Given the description of an element on the screen output the (x, y) to click on. 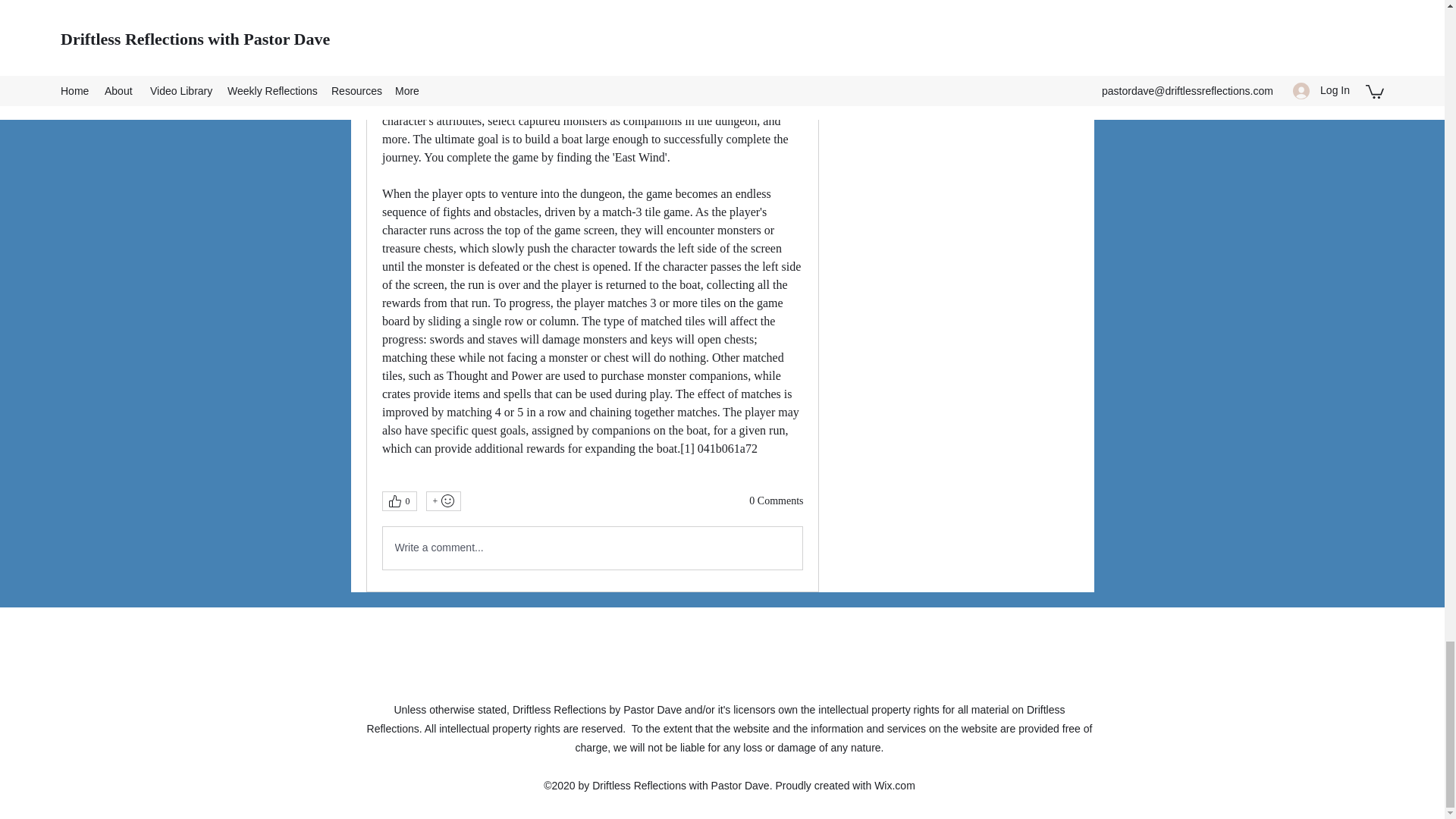
0 Comments (776, 500)
Write a comment... (591, 548)
